Given the description of an element on the screen output the (x, y) to click on. 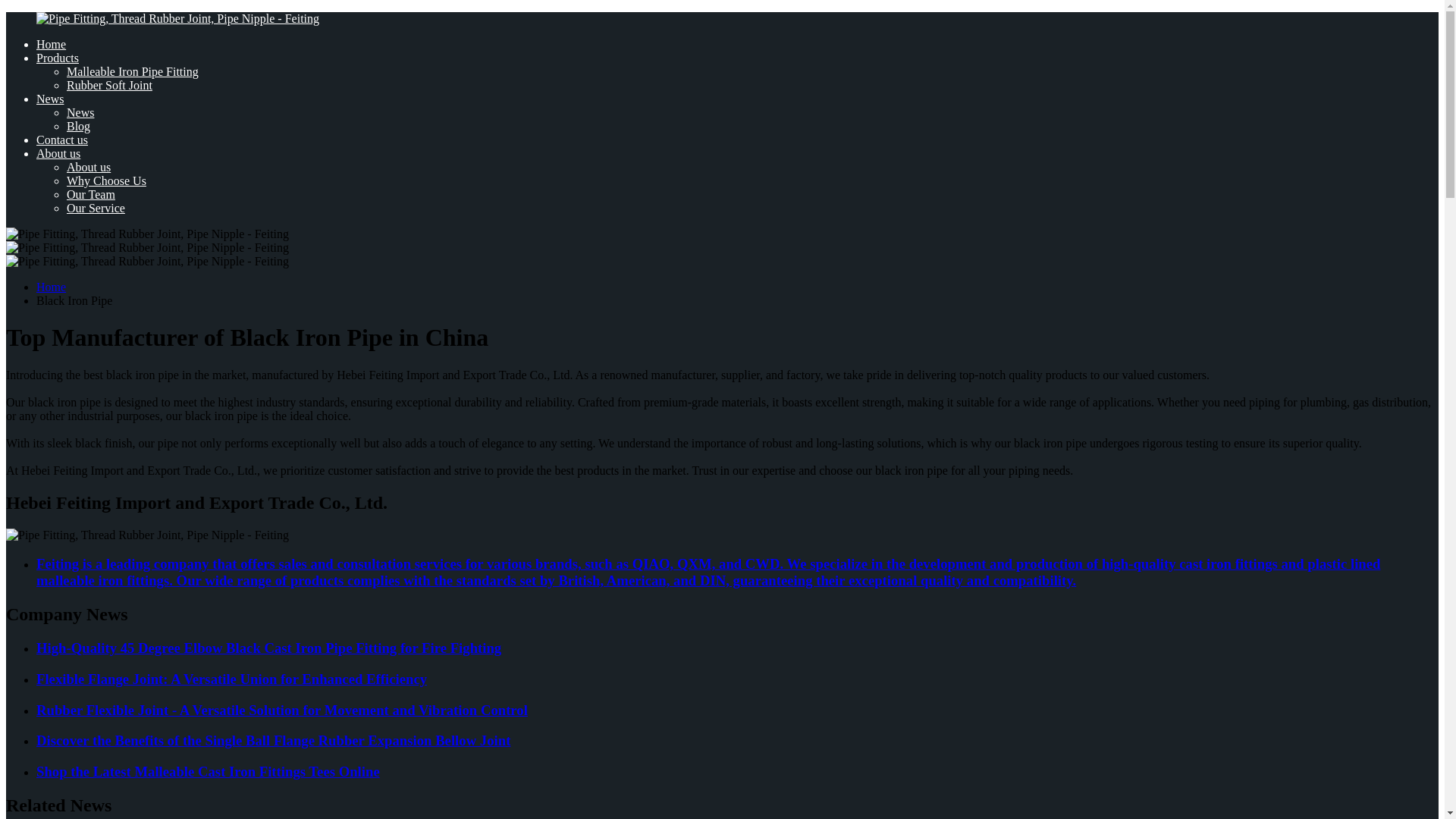
About us (88, 166)
News (80, 112)
Why Choose Us (106, 180)
Products (57, 57)
Blog (78, 125)
Our Team (90, 194)
Our Service (95, 207)
Malleable Iron Pipe Fitting (132, 71)
Home (50, 43)
News (50, 98)
Contact us (61, 139)
Home (50, 286)
Rubber Soft Joint (109, 84)
About us (58, 153)
